Given the description of an element on the screen output the (x, y) to click on. 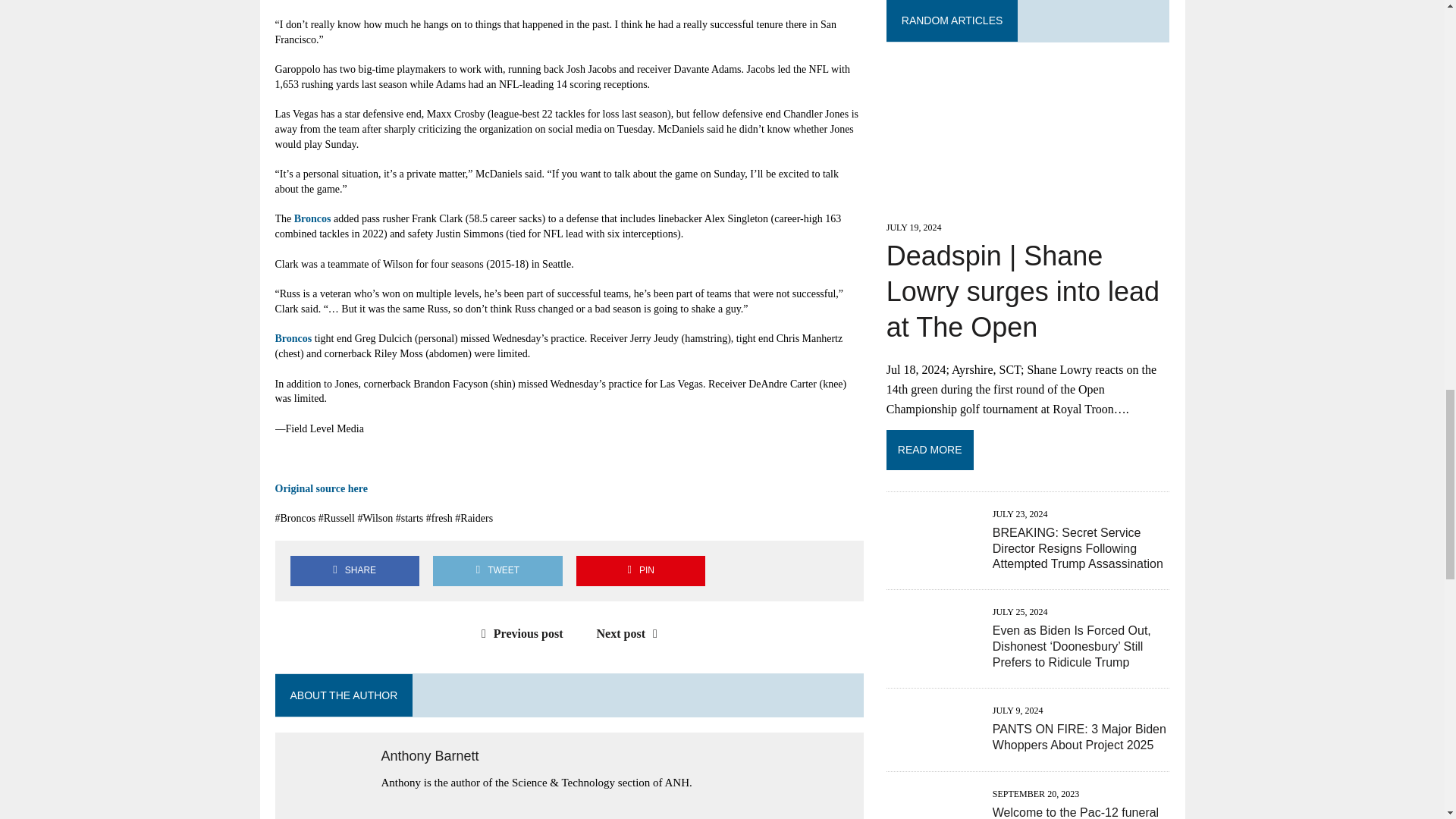
Original source here (320, 488)
Pin This Post (640, 570)
Share on Facebook (354, 570)
Tweet This Post (497, 570)
Broncos (293, 337)
SHARE (354, 570)
Broncos (312, 218)
